Given the description of an element on the screen output the (x, y) to click on. 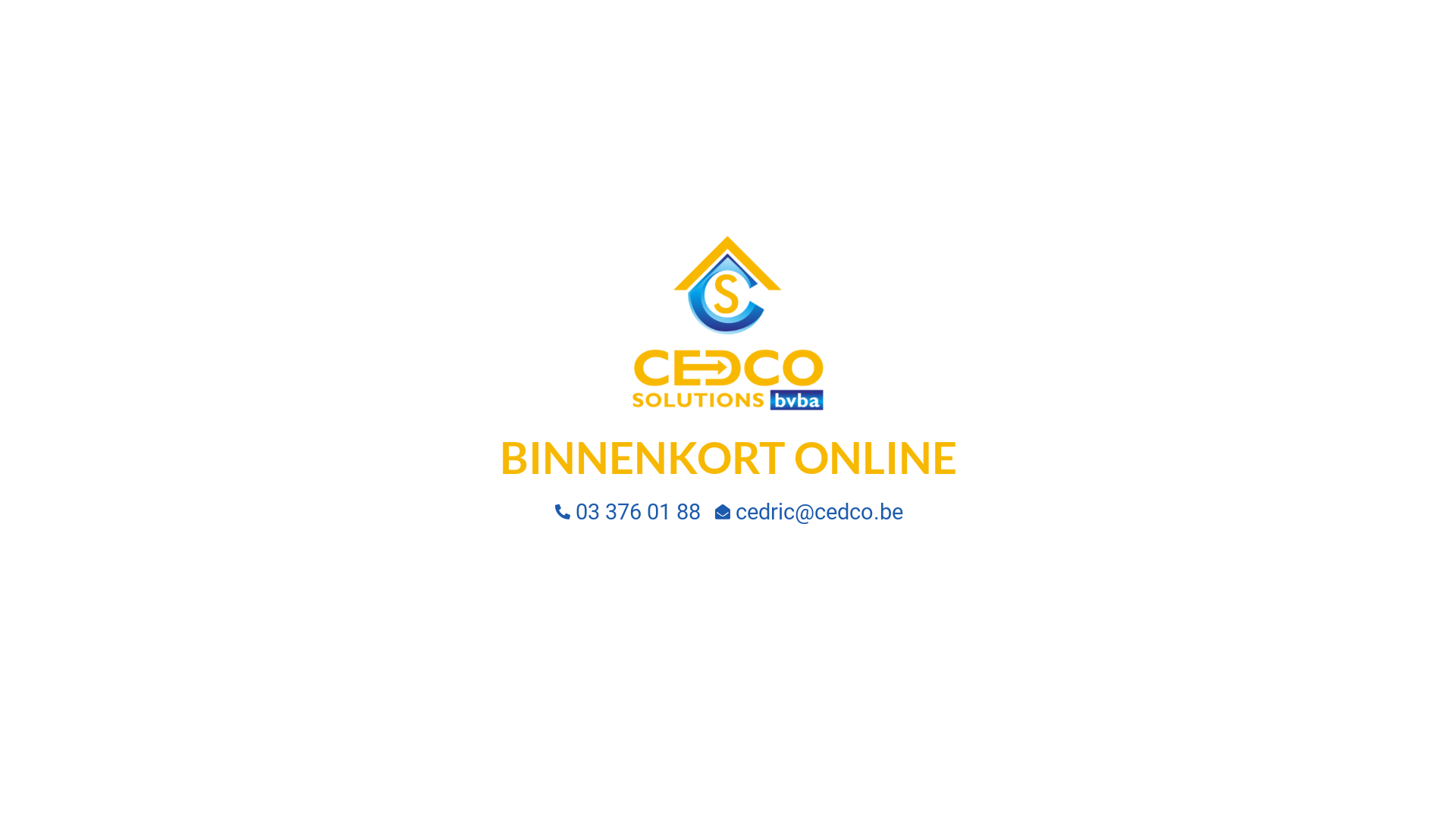
cedric@cedco.be Element type: text (807, 511)
03 376 01 88 Element type: text (626, 511)
